Given the description of an element on the screen output the (x, y) to click on. 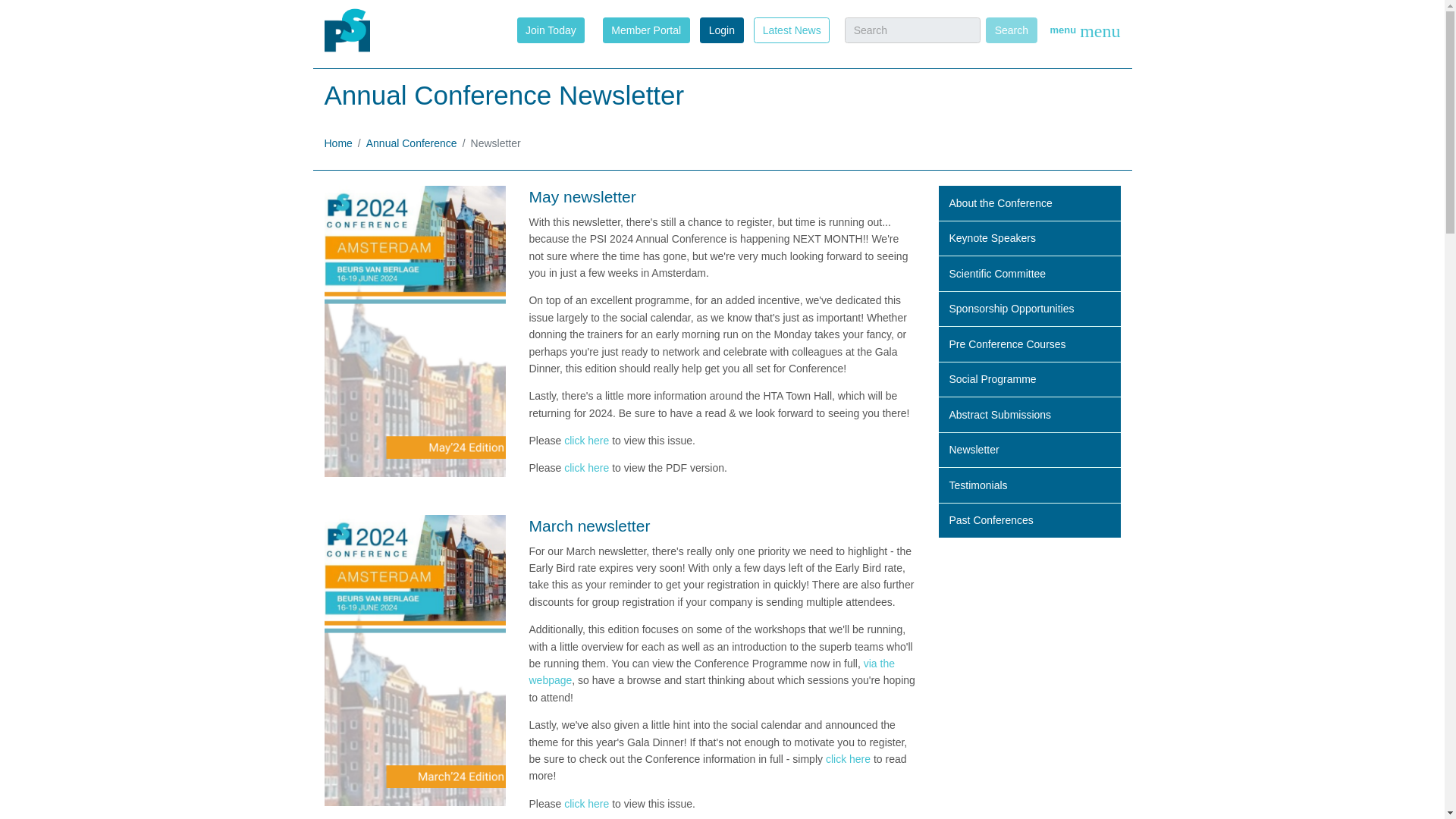
Search input (911, 30)
Latest News (791, 29)
Join Today (550, 29)
Login (721, 30)
Search (1010, 30)
Member Portal (646, 29)
click here (586, 467)
